Given the description of an element on the screen output the (x, y) to click on. 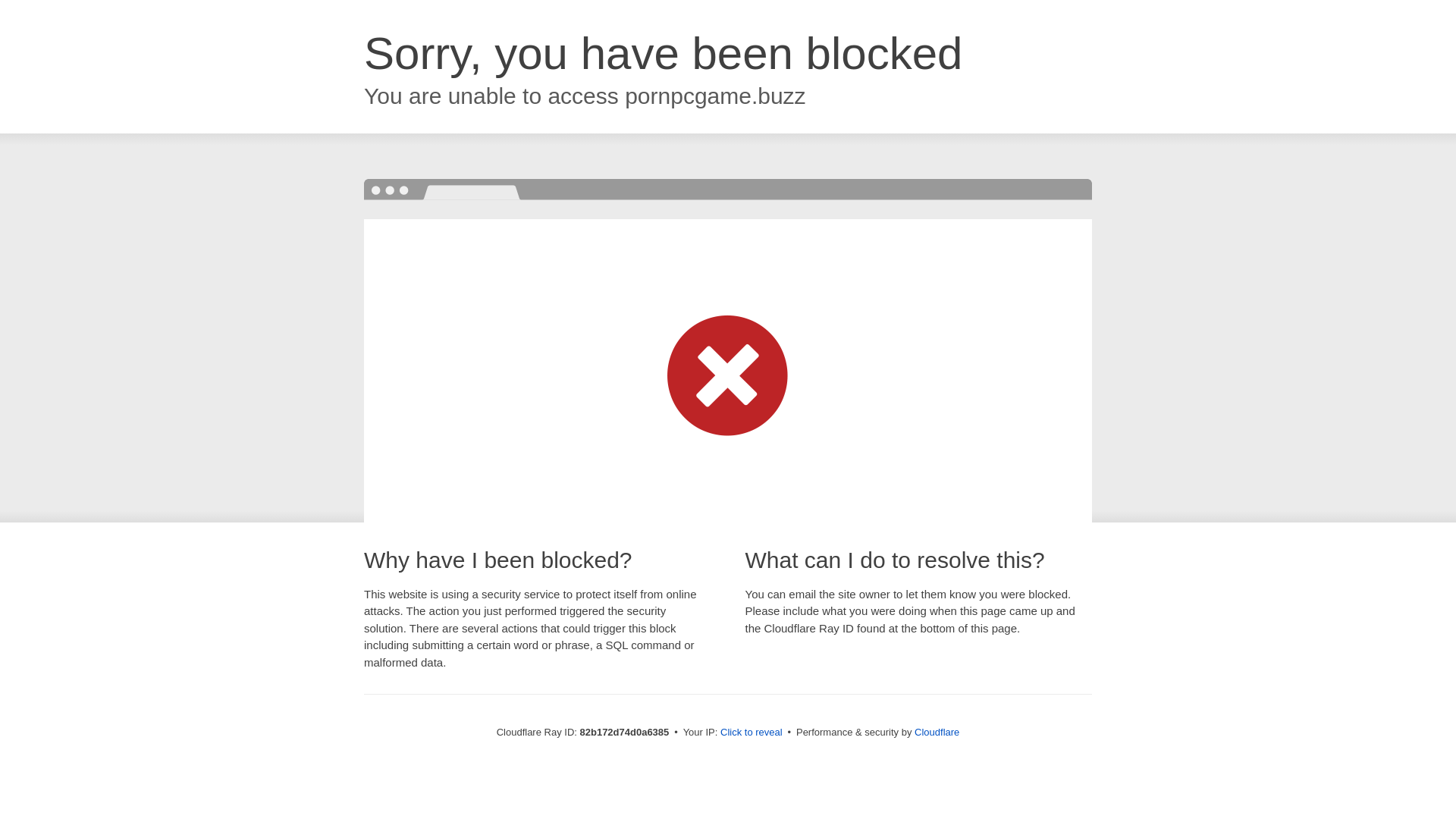
Cloudflare Element type: text (936, 731)
Click to reveal Element type: text (751, 732)
